Given the description of an element on the screen output the (x, y) to click on. 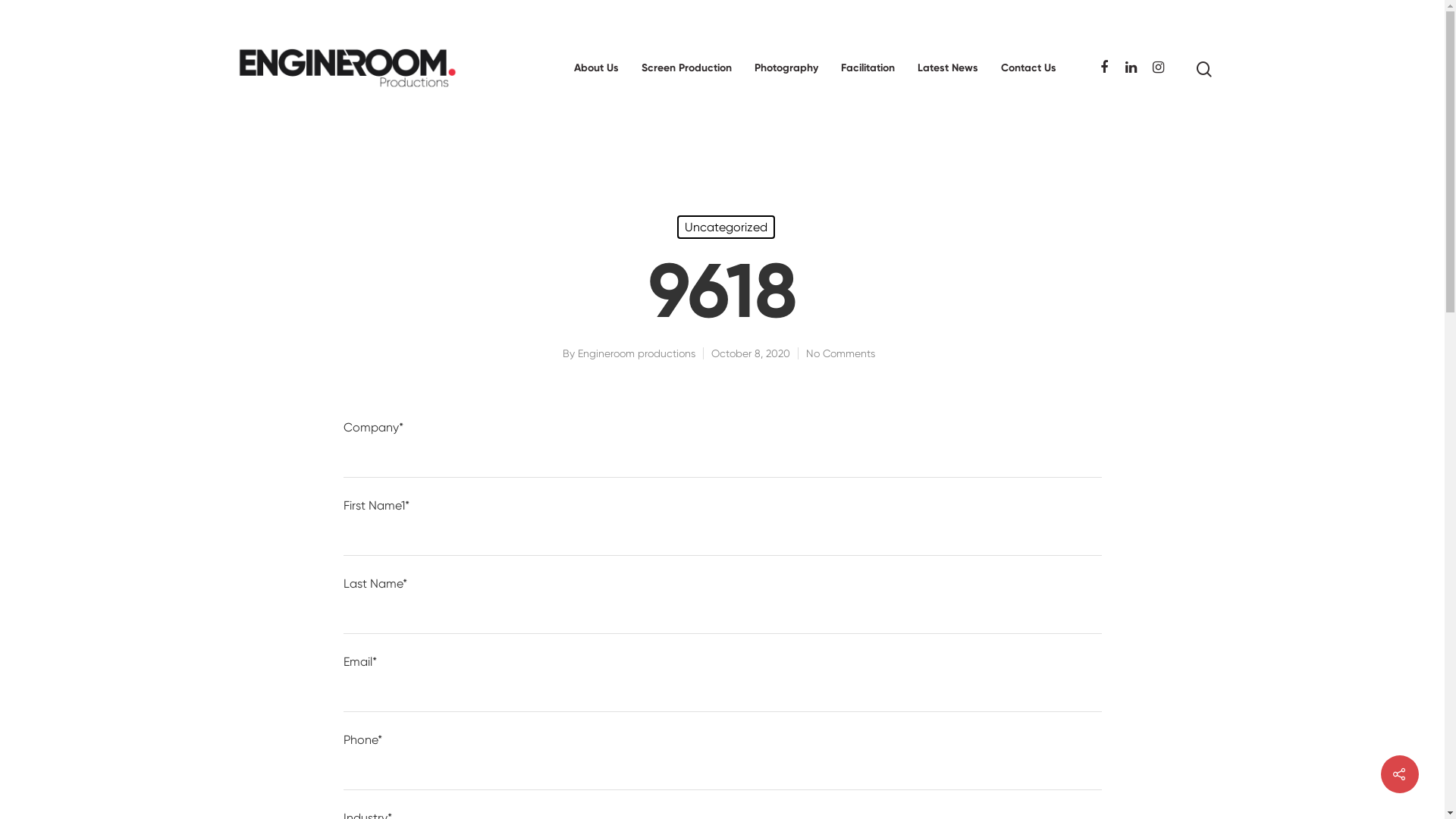
No Comments Element type: text (839, 353)
Latest News Element type: text (947, 67)
Engineroom productions Element type: text (636, 353)
Facilitation Element type: text (867, 67)
Photography Element type: text (785, 67)
About Us Element type: text (595, 67)
Screen Production Element type: text (686, 67)
Contact Us Element type: text (1028, 67)
Uncategorized Element type: text (725, 226)
